Given the description of an element on the screen output the (x, y) to click on. 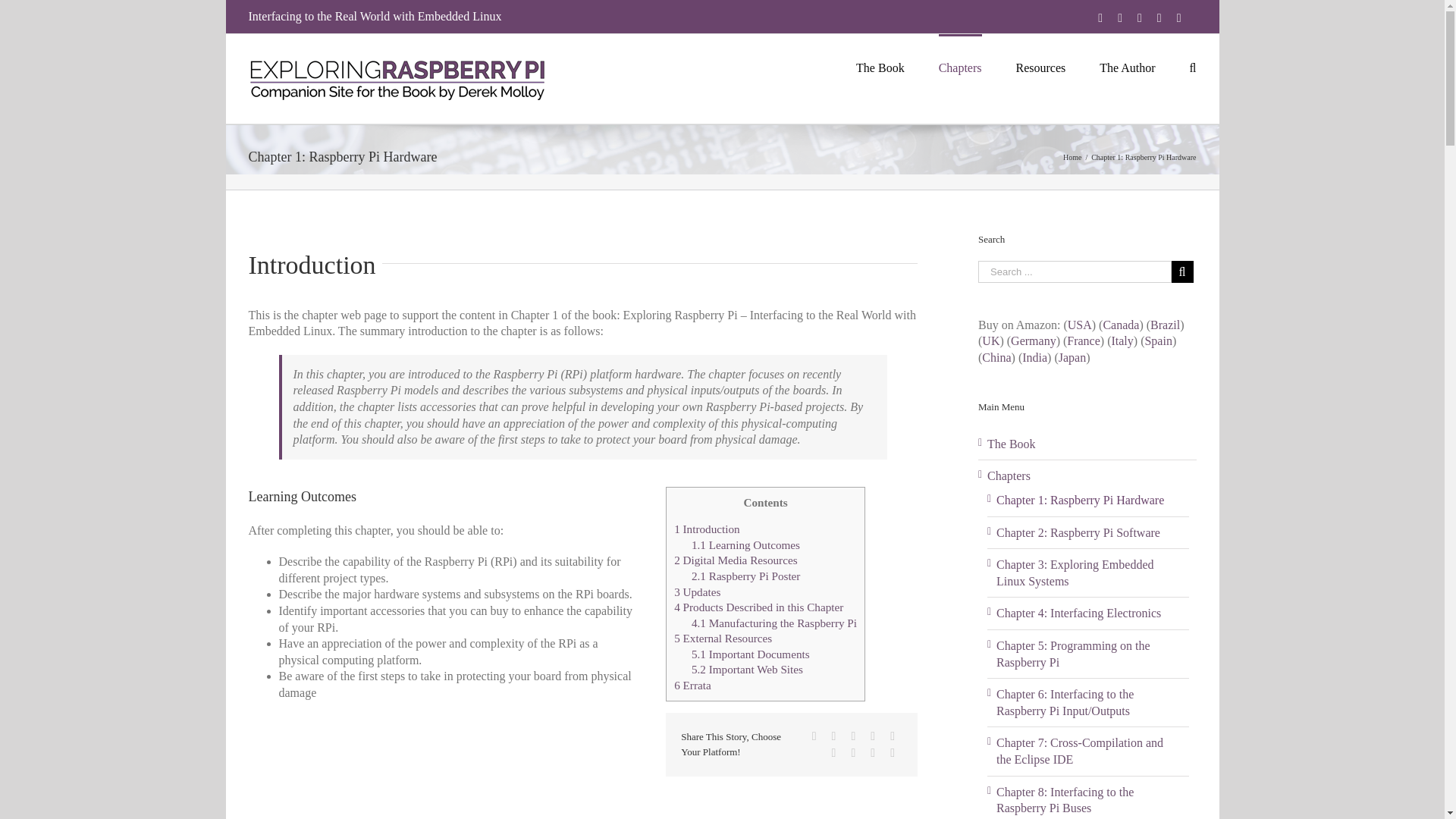
3 Updates (697, 591)
1.1 Learning Outcomes (745, 544)
2 Digital Media Resources (735, 559)
2.1 Raspberry Pi Poster (745, 575)
Home (1071, 157)
1 Introduction (706, 528)
